Given the description of an element on the screen output the (x, y) to click on. 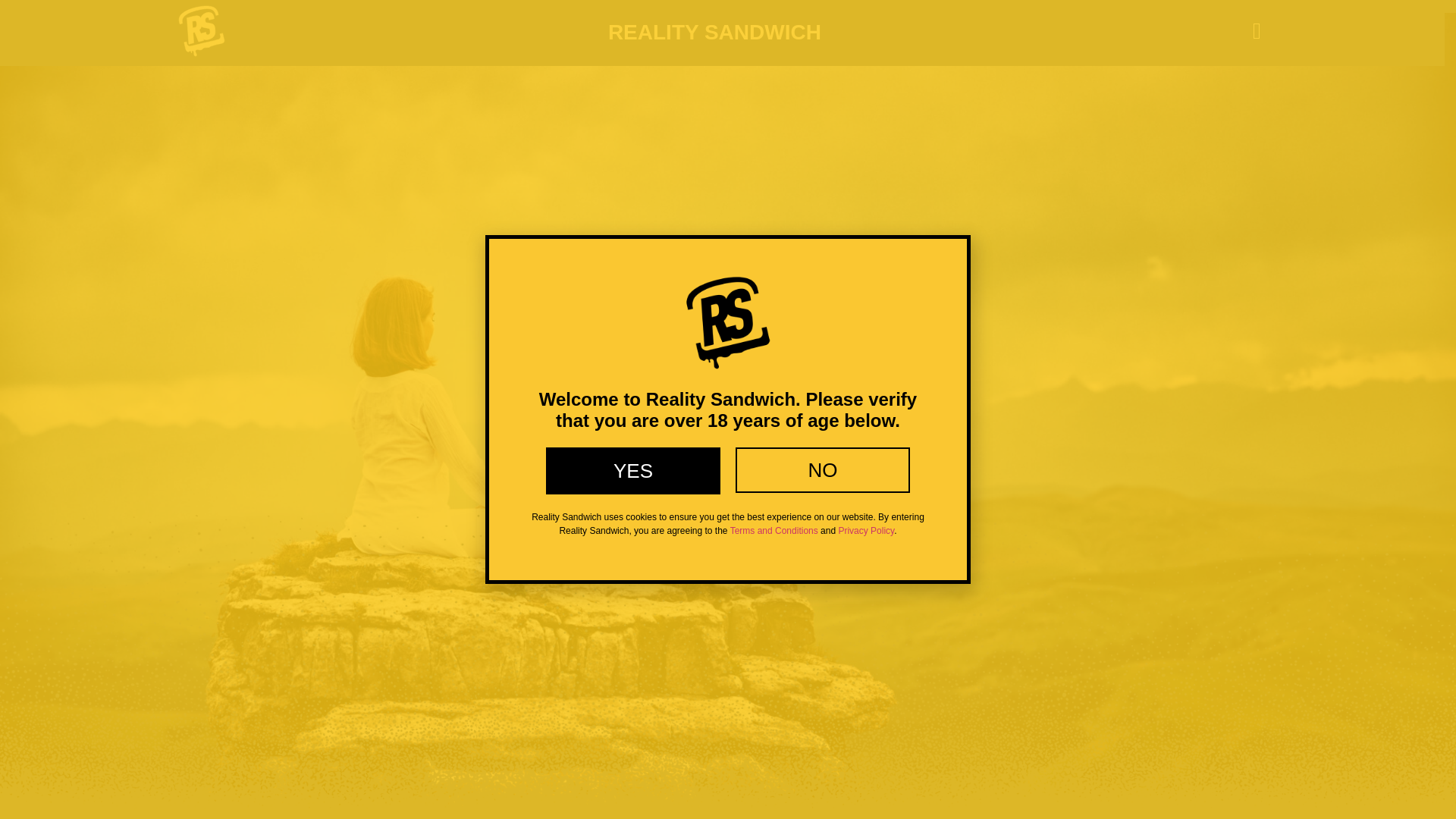
REALITY SANDWICH (714, 32)
